Given the description of an element on the screen output the (x, y) to click on. 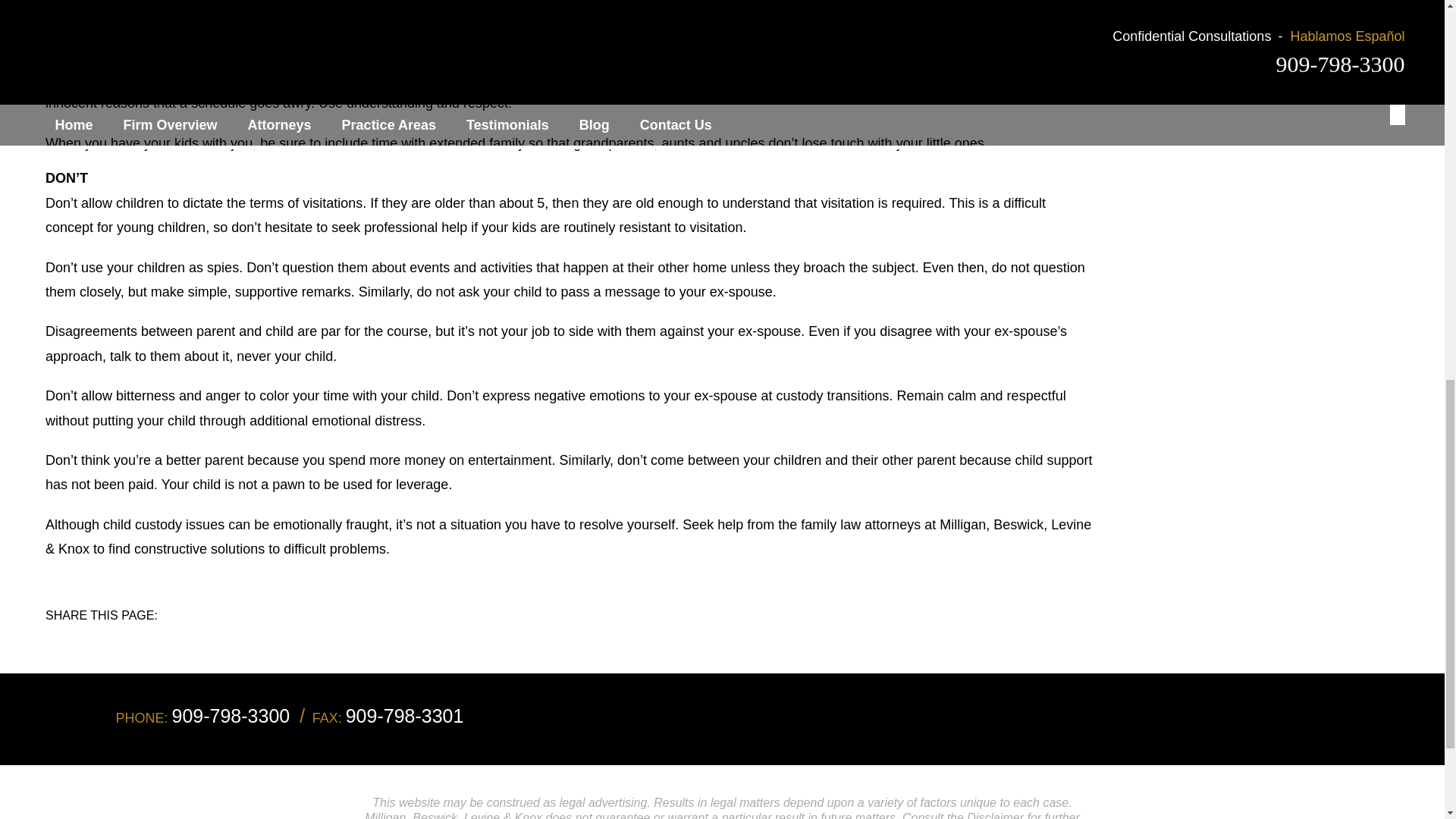
Twitter (203, 631)
Facebook (192, 631)
LinkedIn (214, 631)
